Given the description of an element on the screen output the (x, y) to click on. 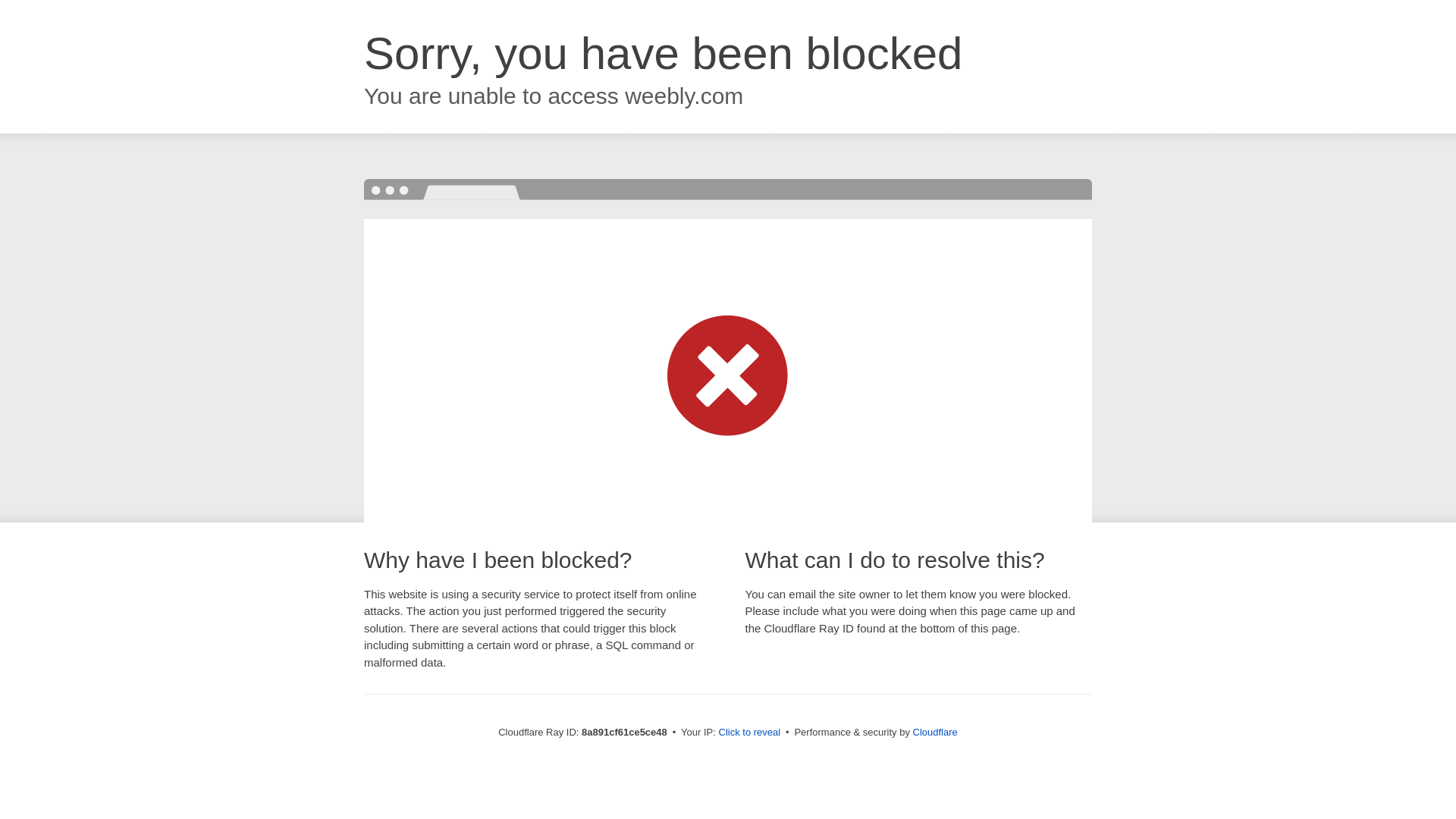
Cloudflare (935, 731)
Click to reveal (749, 732)
